Given the description of an element on the screen output the (x, y) to click on. 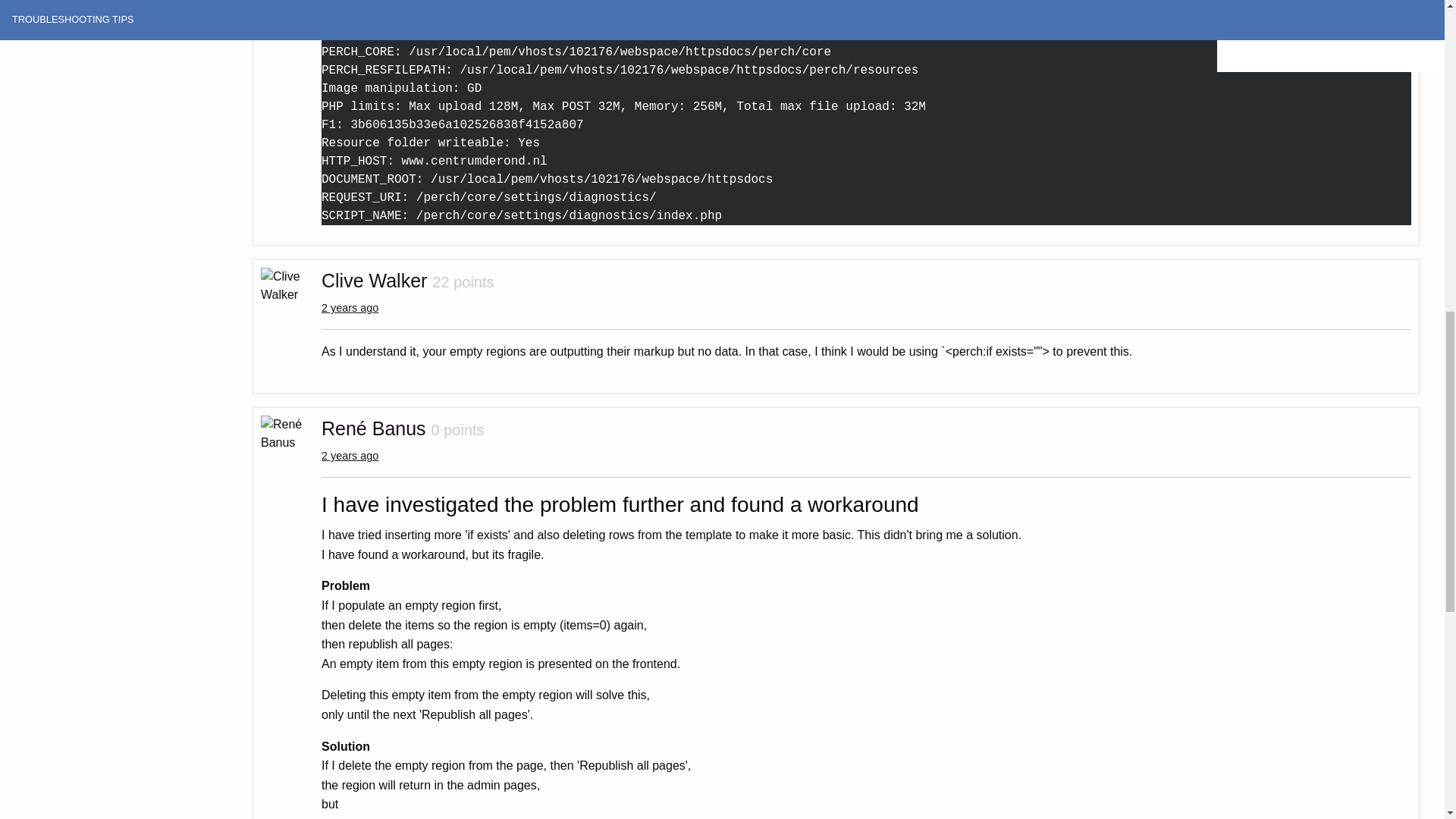
2 years ago (349, 455)
Clive Walker (373, 280)
2 years ago (349, 307)
